Given the description of an element on the screen output the (x, y) to click on. 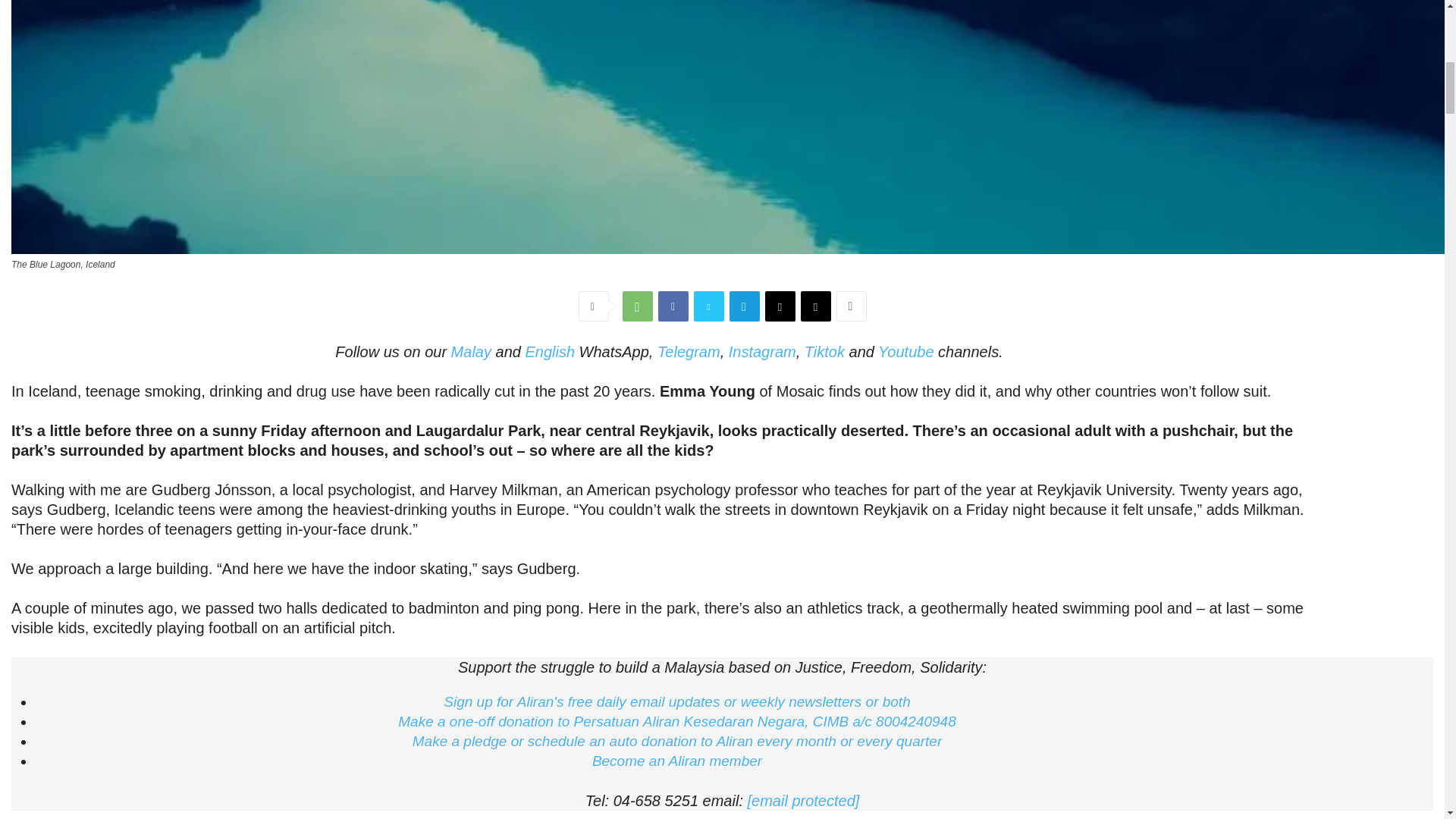
Malay (471, 351)
WhatsApp (636, 306)
Twitter (708, 306)
Facebook (673, 306)
